Given the description of an element on the screen output the (x, y) to click on. 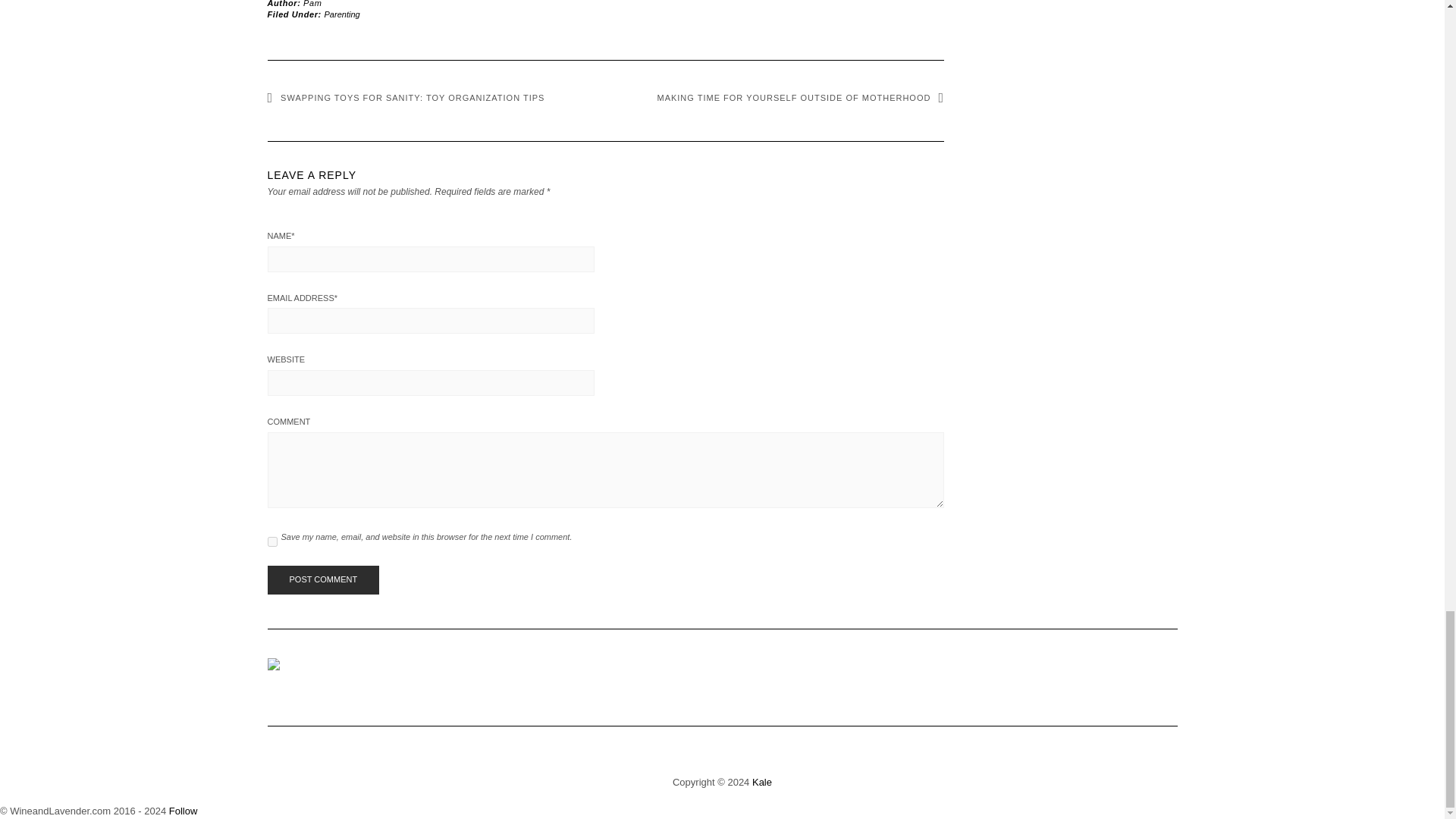
Pam (311, 3)
SWAPPING TOYS FOR SANITY: TOY ORGANIZATION TIPS (405, 97)
Post Comment (322, 579)
MAKING TIME FOR YOURSELF OUTSIDE OF MOTHERHOOD (799, 97)
Posts by Pam (311, 3)
yes (271, 542)
Post Comment (322, 579)
Parenting (341, 13)
